Given the description of an element on the screen output the (x, y) to click on. 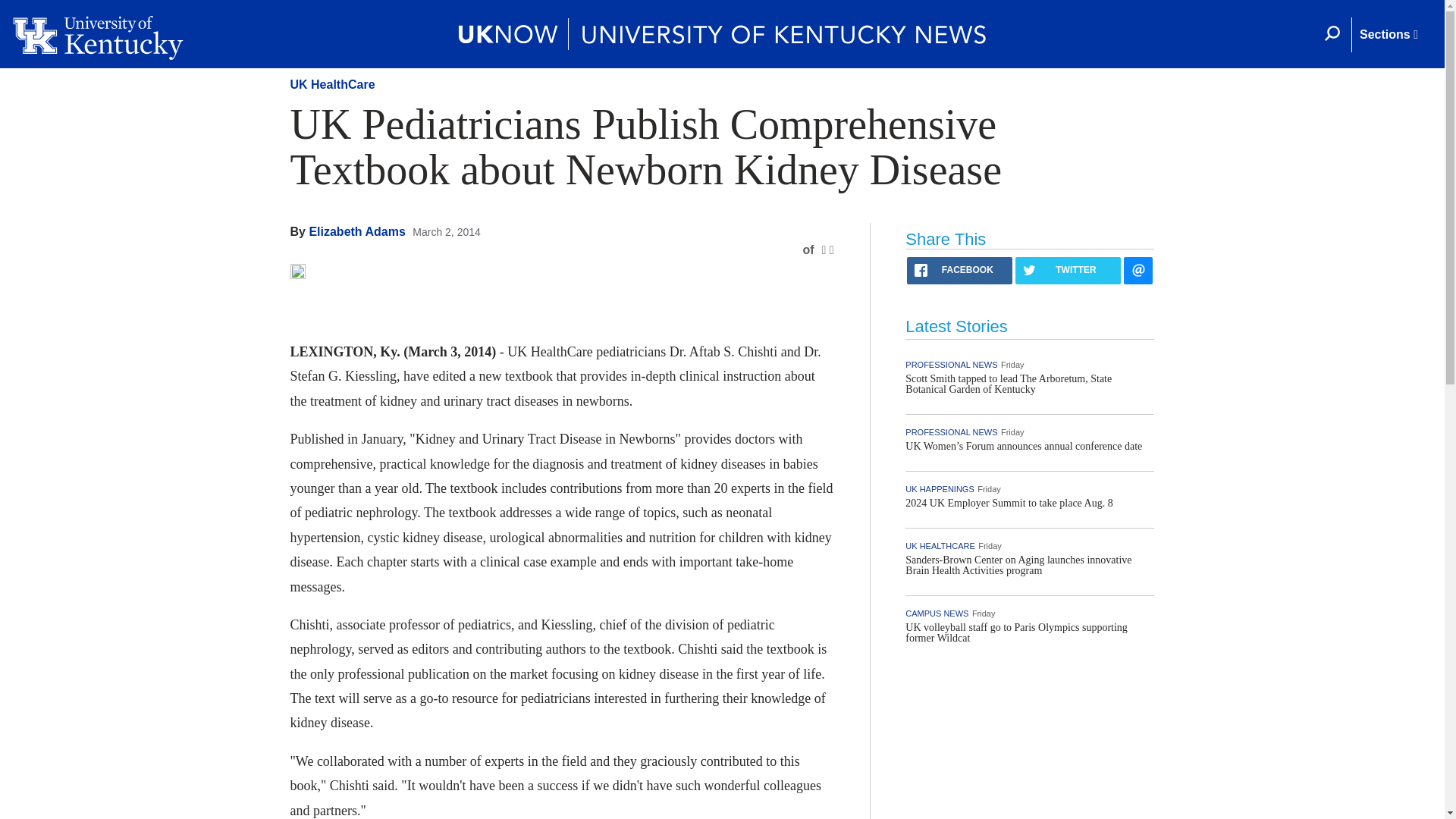
Elizabeth Adams (356, 231)
EMAIL (1083, 270)
Sections (1388, 34)
Section navigation menu (1388, 34)
UK HealthCare (331, 83)
FACEBOOK (945, 270)
TWITTER (1019, 270)
